Given the description of an element on the screen output the (x, y) to click on. 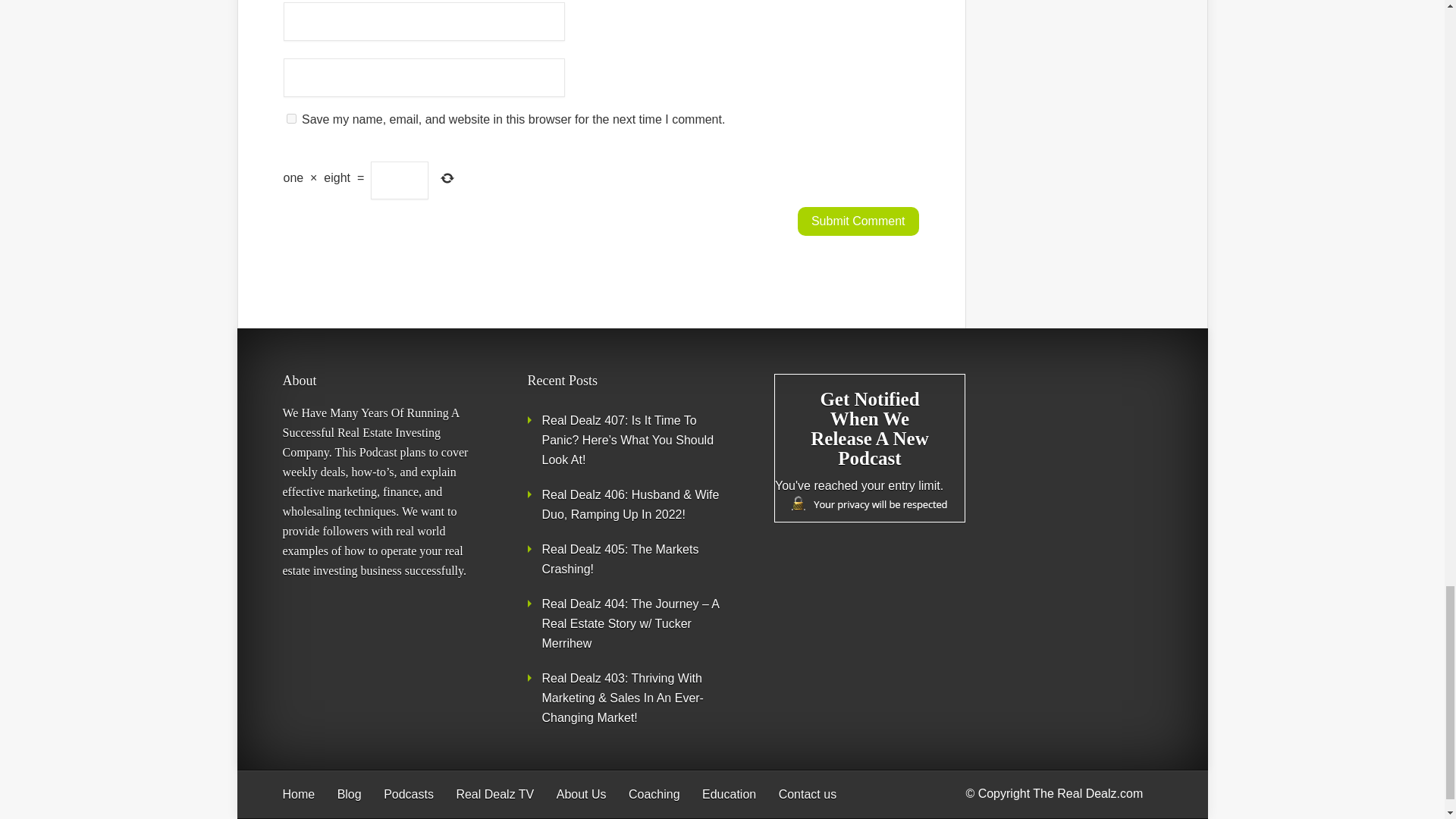
yes (291, 118)
Submit Comment (857, 221)
